Given the description of an element on the screen output the (x, y) to click on. 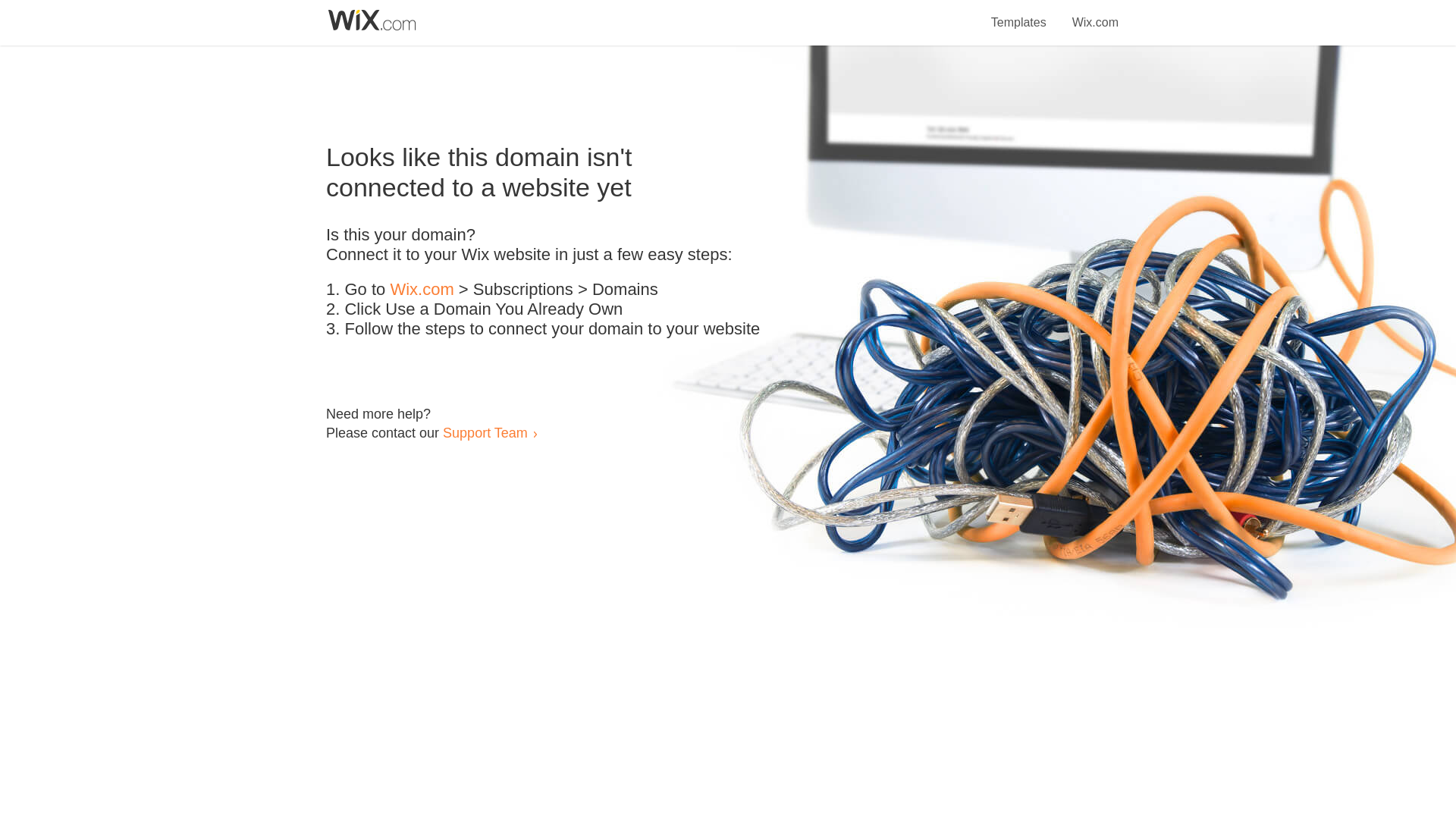
Wix.com (421, 289)
Wix.com (1095, 14)
Templates (1018, 14)
Support Team (484, 432)
